Given the description of an element on the screen output the (x, y) to click on. 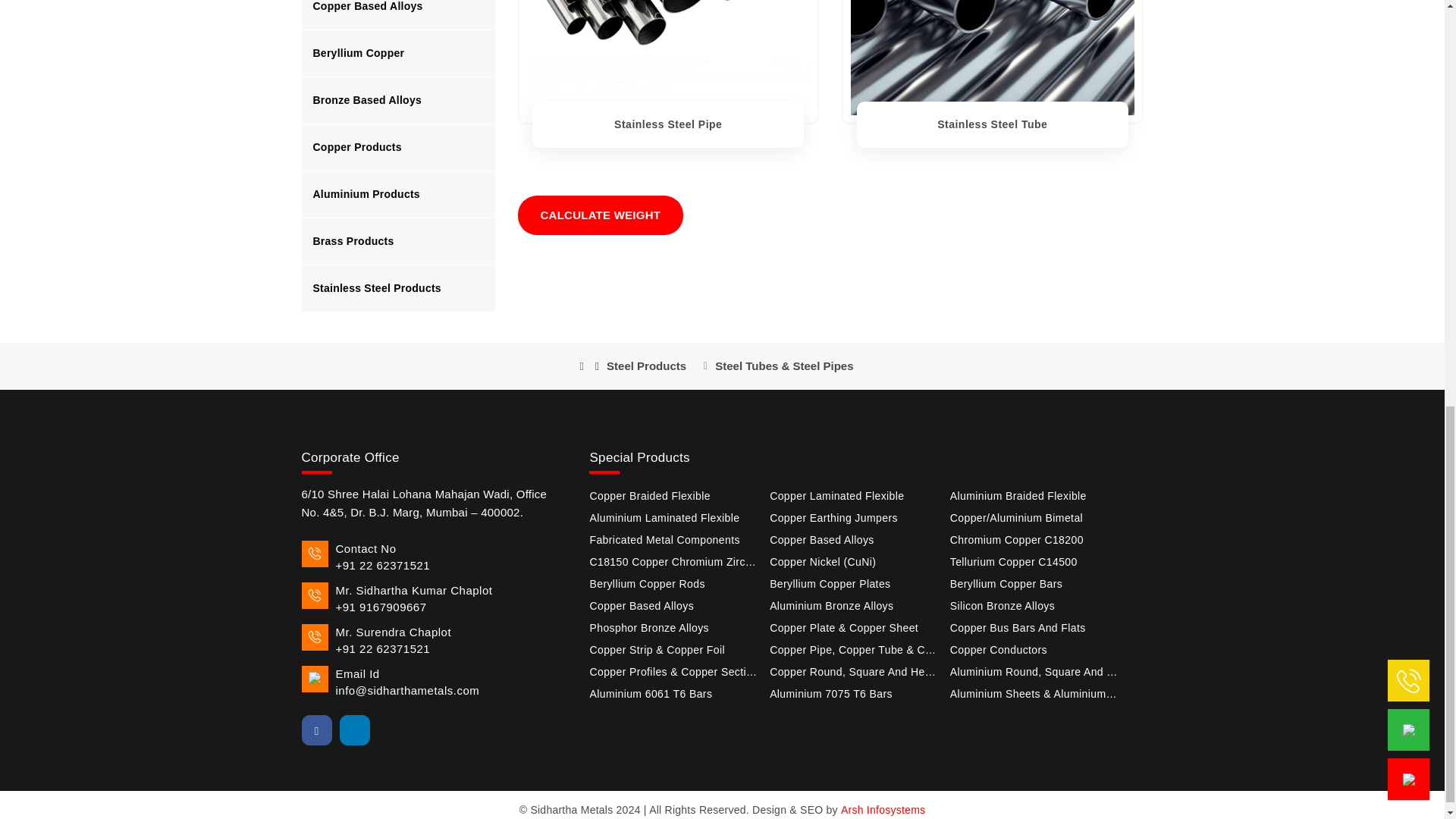
Facebook (316, 729)
Twitter (392, 729)
Tel (434, 599)
Tel (434, 641)
Linkedin (354, 729)
Email (434, 682)
Tel (434, 557)
